Given the description of an element on the screen output the (x, y) to click on. 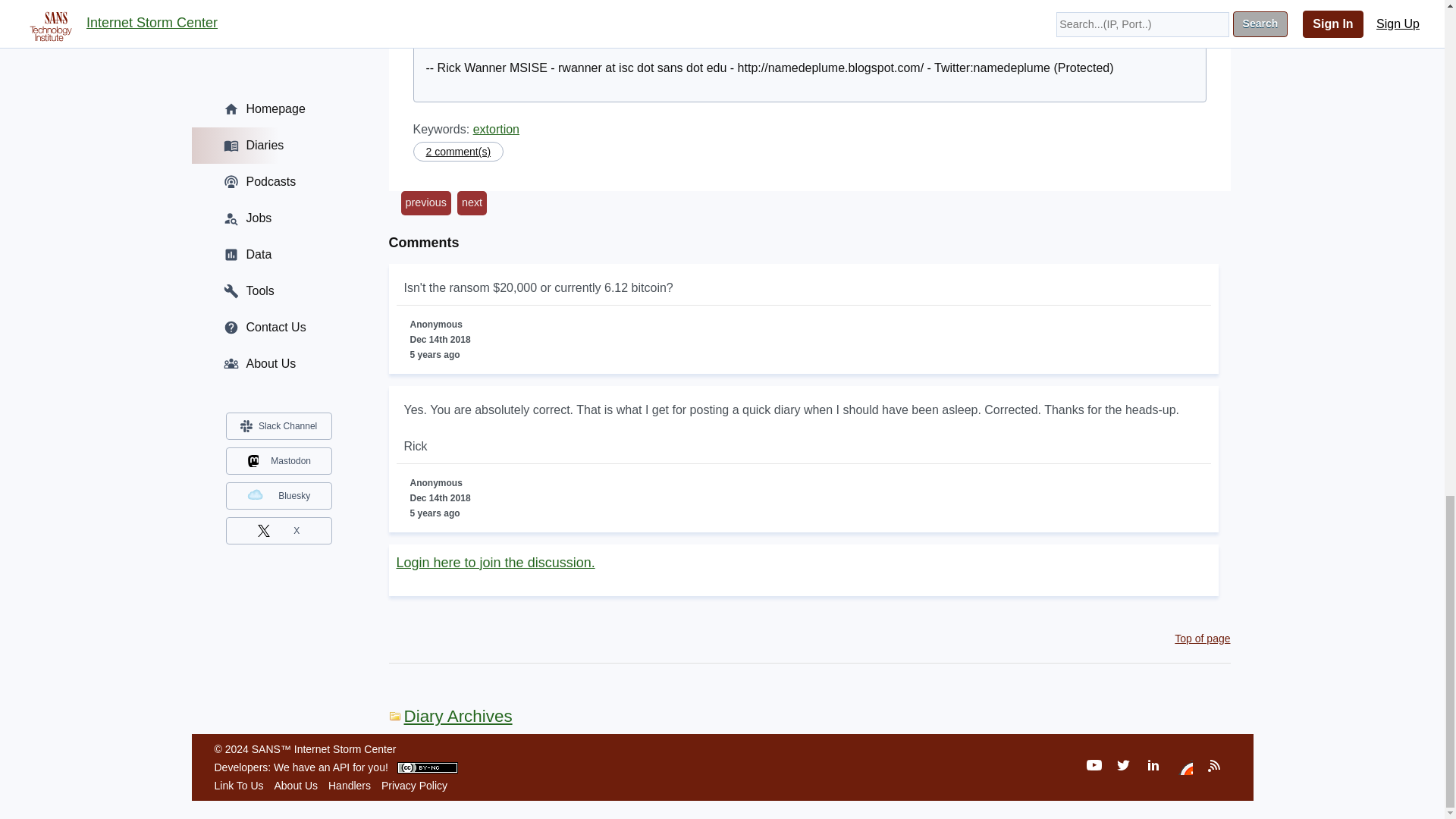
extortion (496, 128)
next (471, 202)
Login here to join the discussion. (495, 562)
Diary Archives (450, 715)
previous (424, 202)
Top of page (1202, 638)
